Given the description of an element on the screen output the (x, y) to click on. 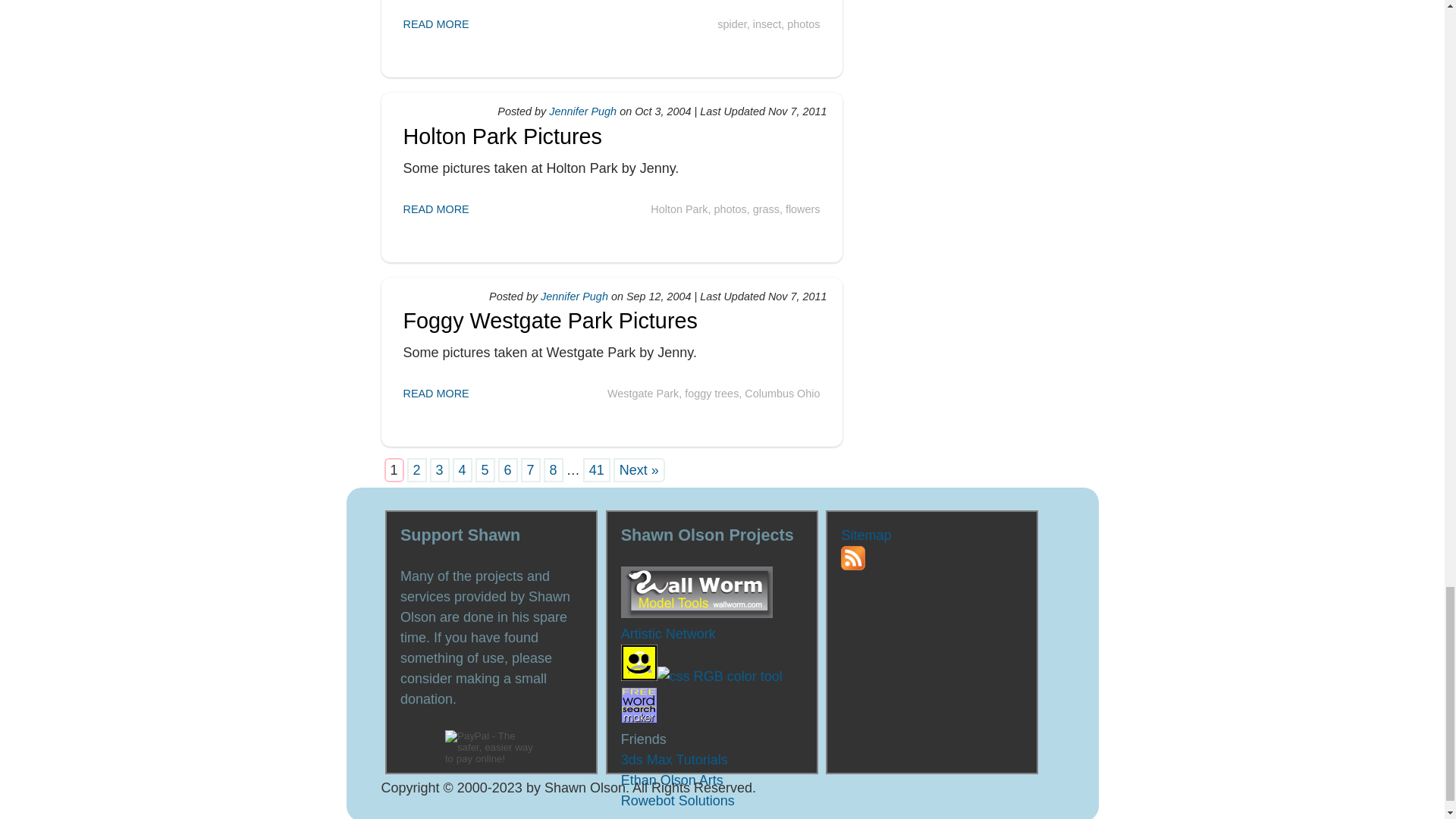
READ MORE (435, 24)
Jennifer Pugh (581, 111)
Ethan Olson is a 3D artist and son of Shawn Olson (672, 780)
Foggy Westgate Park Pictures (550, 320)
41 (596, 469)
READ MORE (435, 393)
Jennifer Pugh (574, 296)
Holton Park Pictures (502, 136)
Video Tutorials on creating VFX in 3ds Max (674, 759)
READ MORE (435, 209)
